Given the description of an element on the screen output the (x, y) to click on. 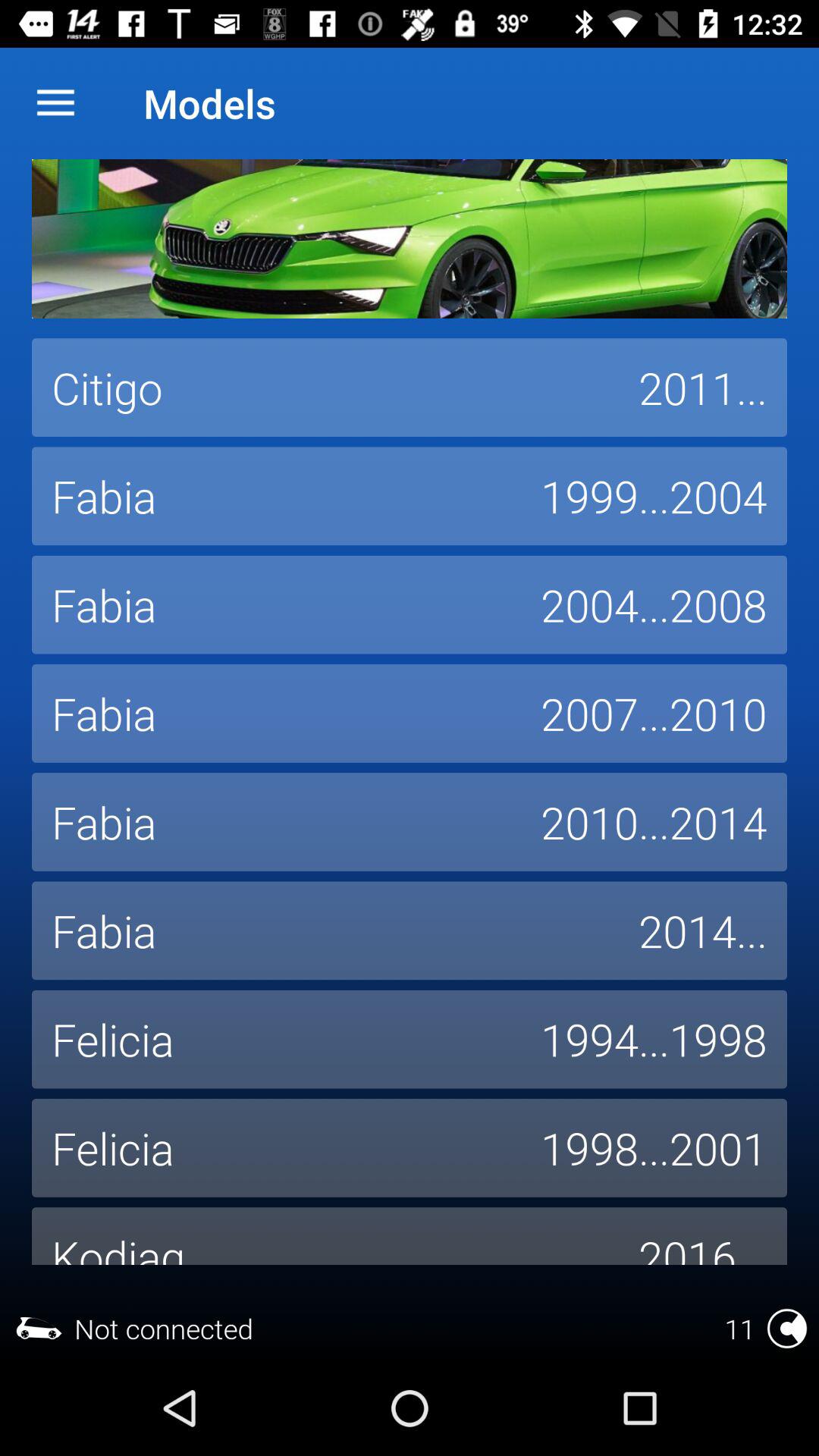
click the item at the top right corner (702, 387)
